Given the description of an element on the screen output the (x, y) to click on. 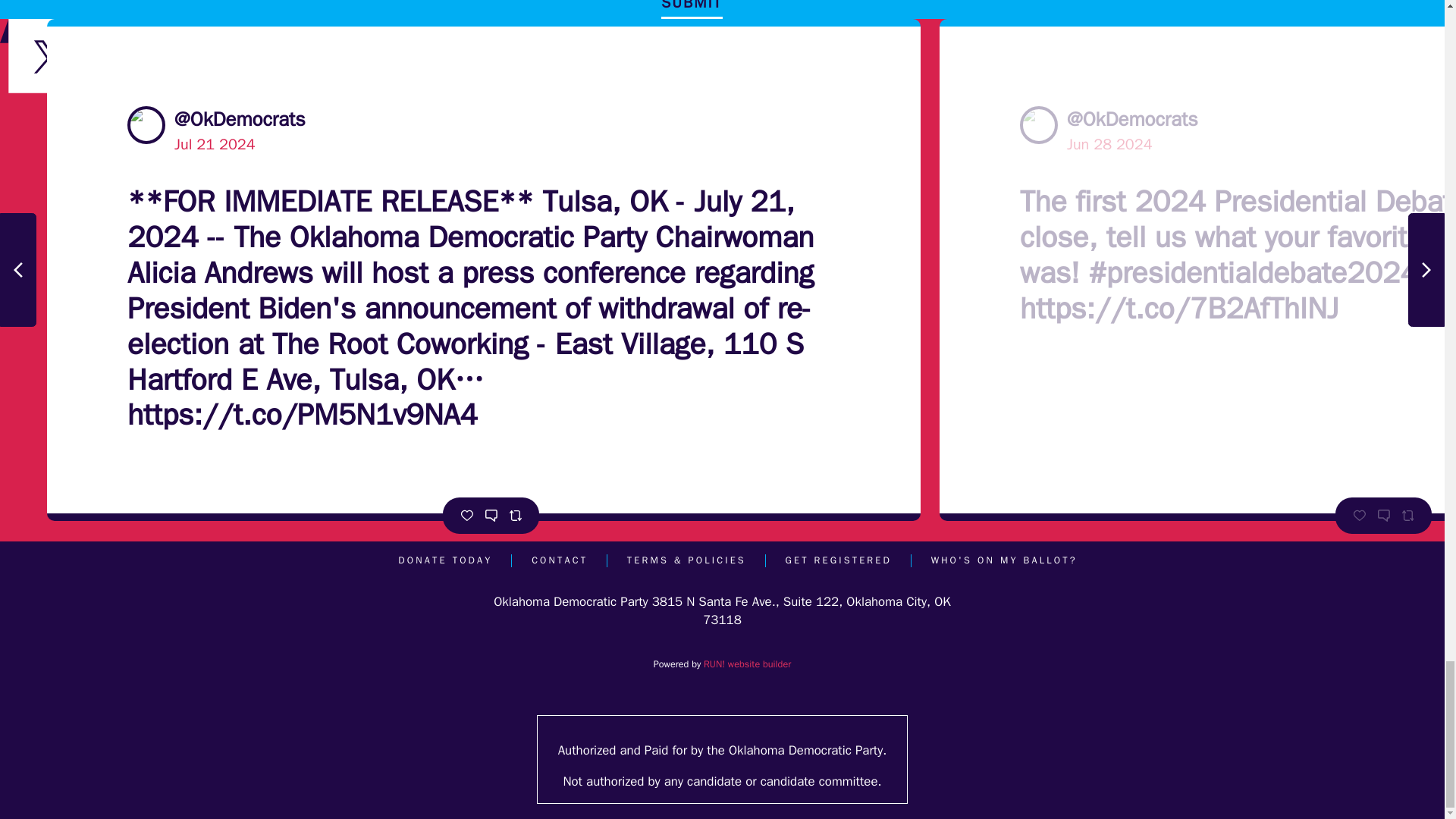
OkDemocrats (1039, 125)
SUBMIT (691, 9)
OkDemocrats (146, 125)
